Given the description of an element on the screen output the (x, y) to click on. 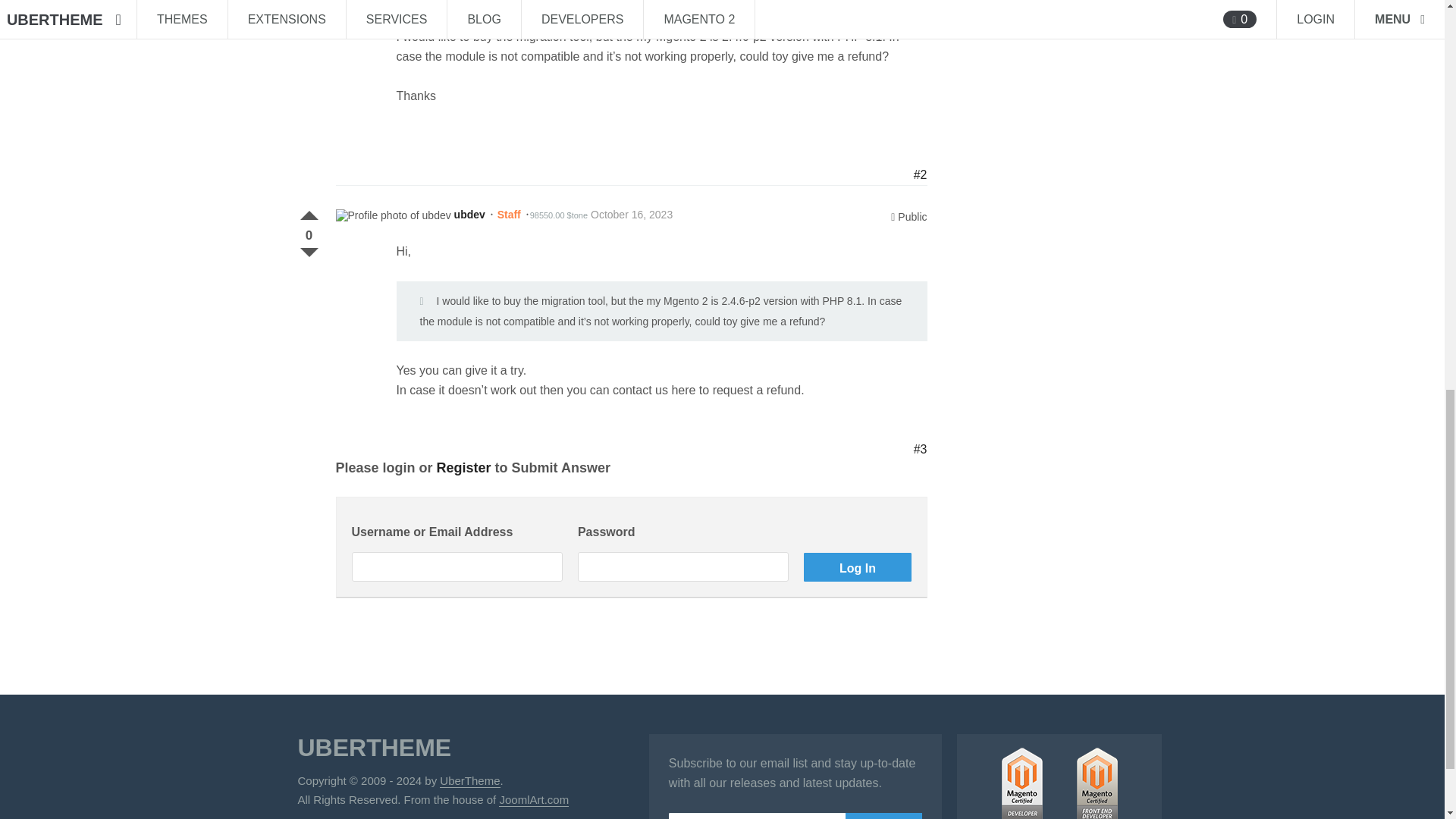
Subscribe (883, 816)
Log In (857, 566)
